Given the description of an element on the screen output the (x, y) to click on. 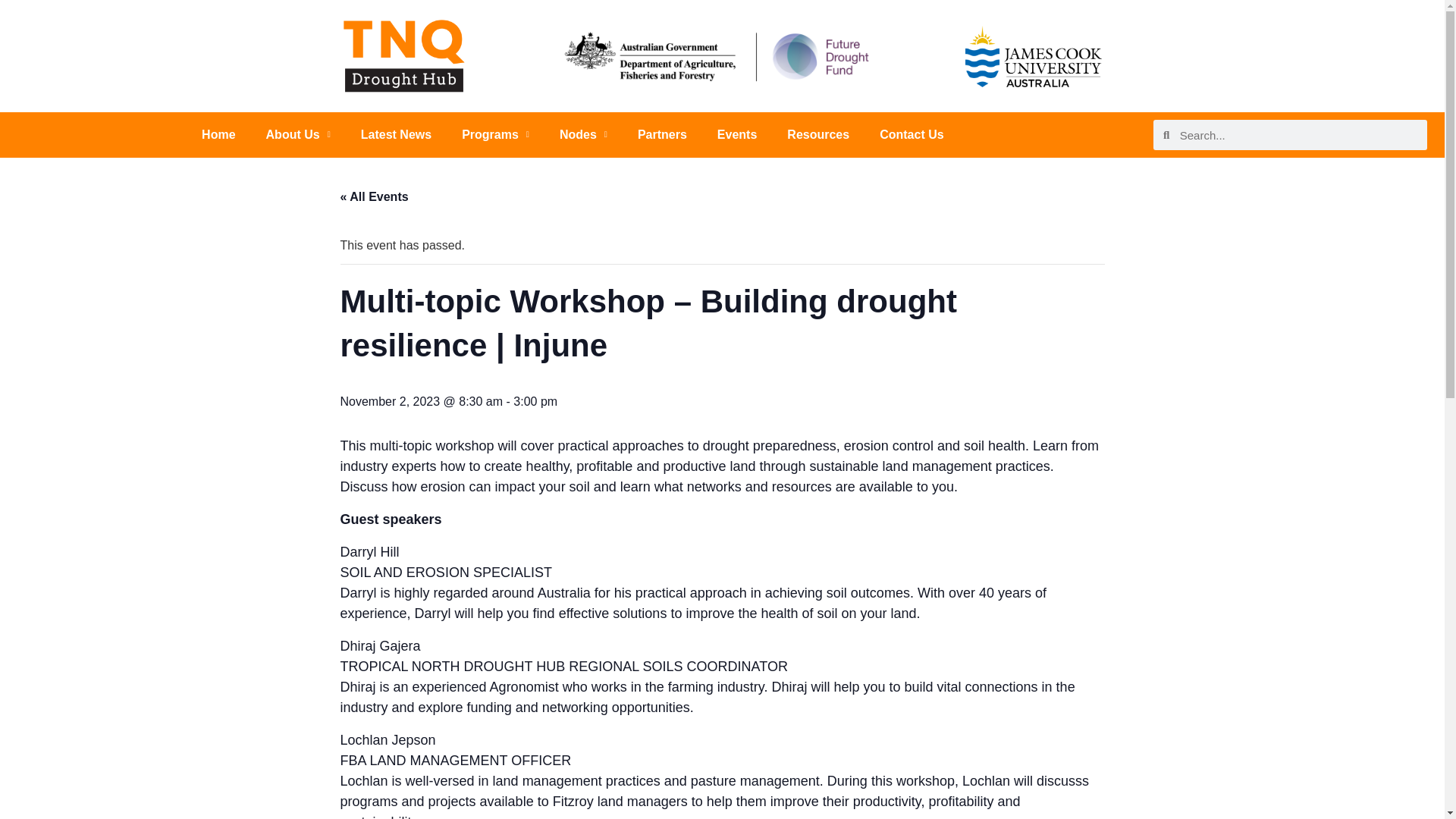
Partners (662, 134)
Resources (817, 134)
Programs (495, 134)
Home (218, 134)
Contact Us (911, 134)
Nodes (583, 134)
Events (736, 134)
Latest News (396, 134)
About Us (298, 134)
